Given the description of an element on the screen output the (x, y) to click on. 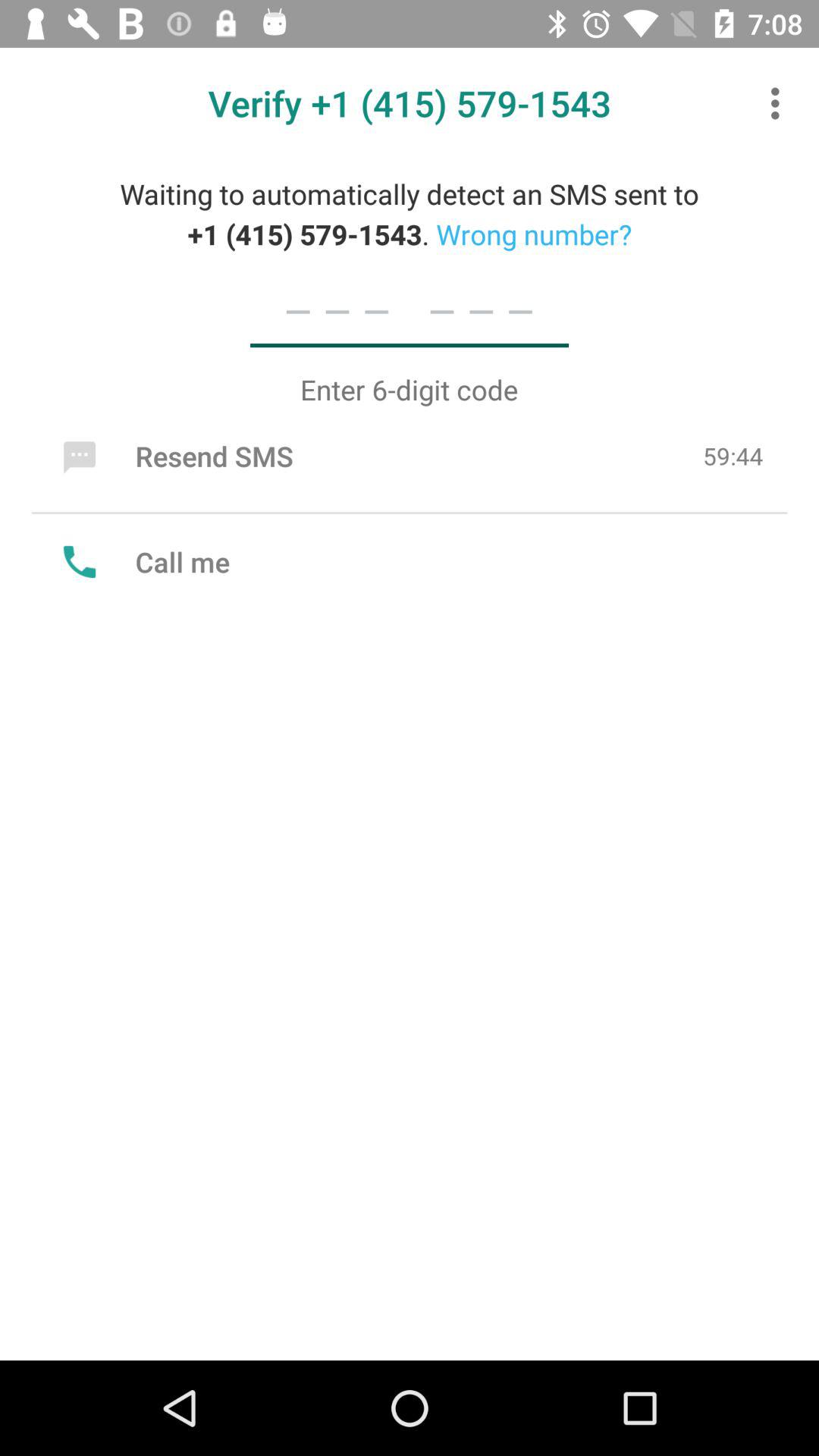
turn on the icon on the left (142, 561)
